Given the description of an element on the screen output the (x, y) to click on. 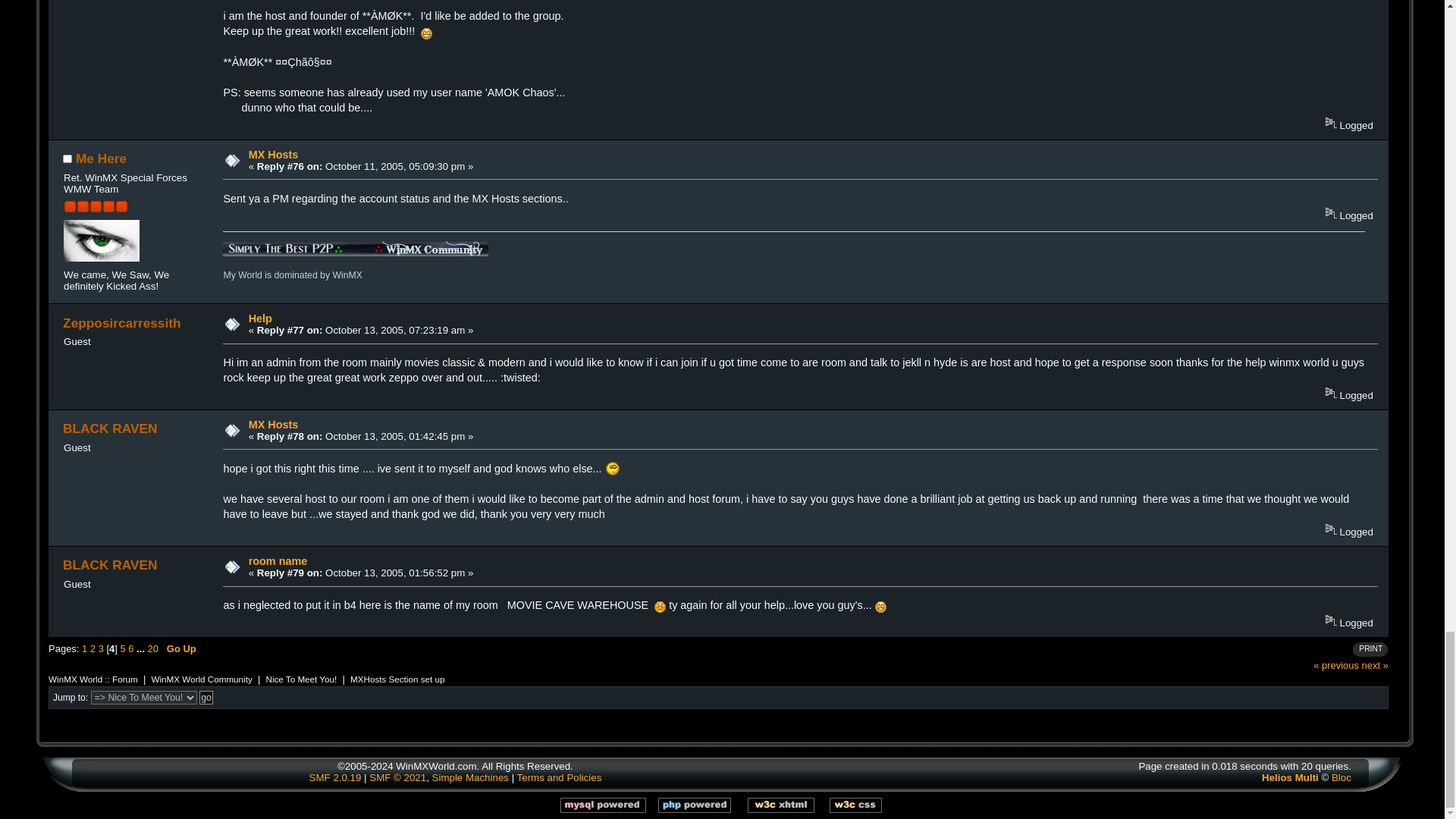
Confused (612, 468)
go (205, 697)
Embarassed (659, 606)
View the profile of Me Here (100, 158)
grin (426, 33)
